Given the description of an element on the screen output the (x, y) to click on. 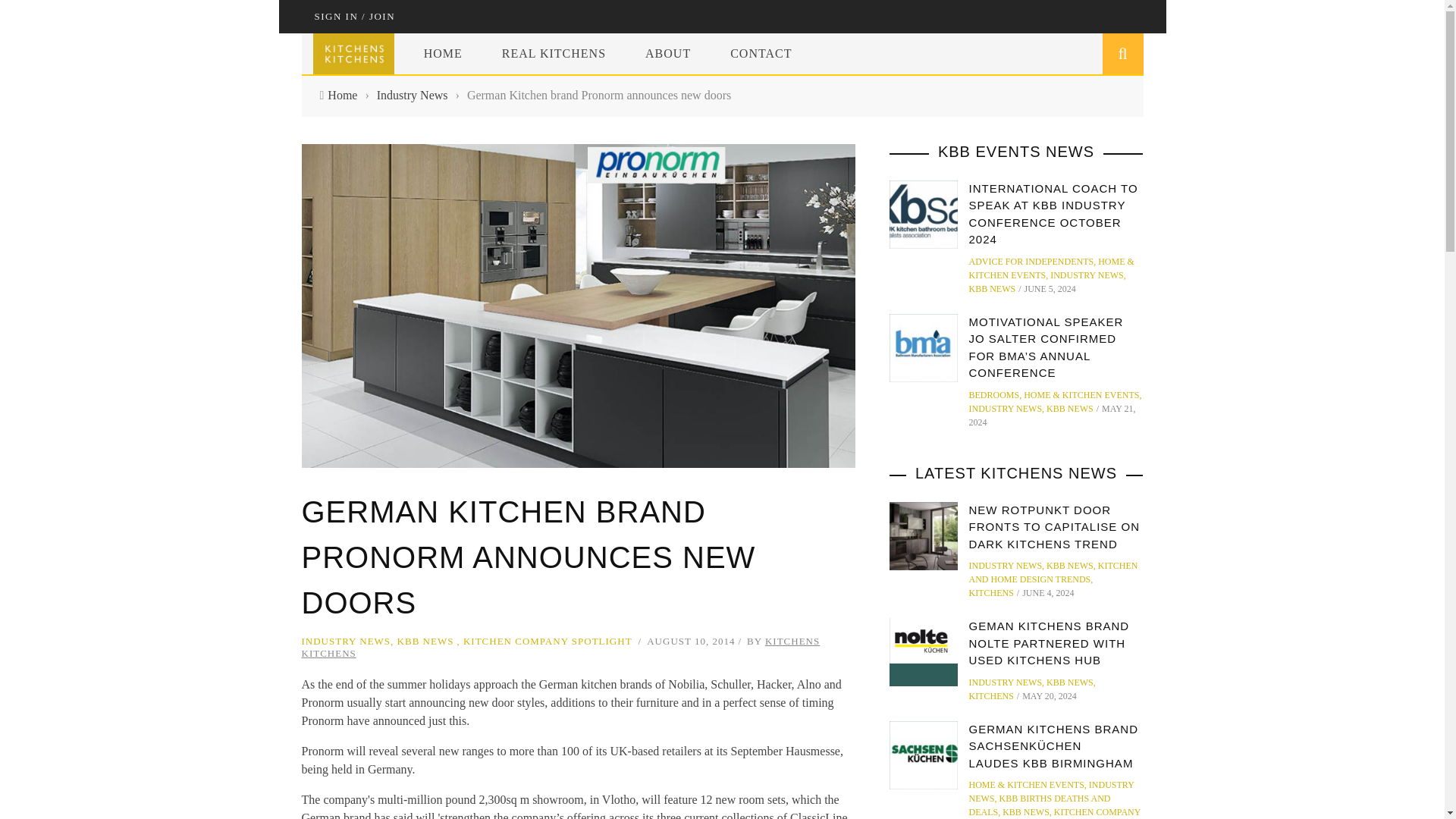
KITCHEN COMPANY SPOTLIGHT (547, 641)
KBB NEWS (425, 641)
CONTACT (760, 52)
KITCHENS KITCHENS (561, 647)
Industry News (412, 93)
HOME (443, 52)
Home (341, 93)
REAL KITCHENS (553, 52)
ABOUT (668, 52)
INDUSTRY NEWS (346, 641)
